Given the description of an element on the screen output the (x, y) to click on. 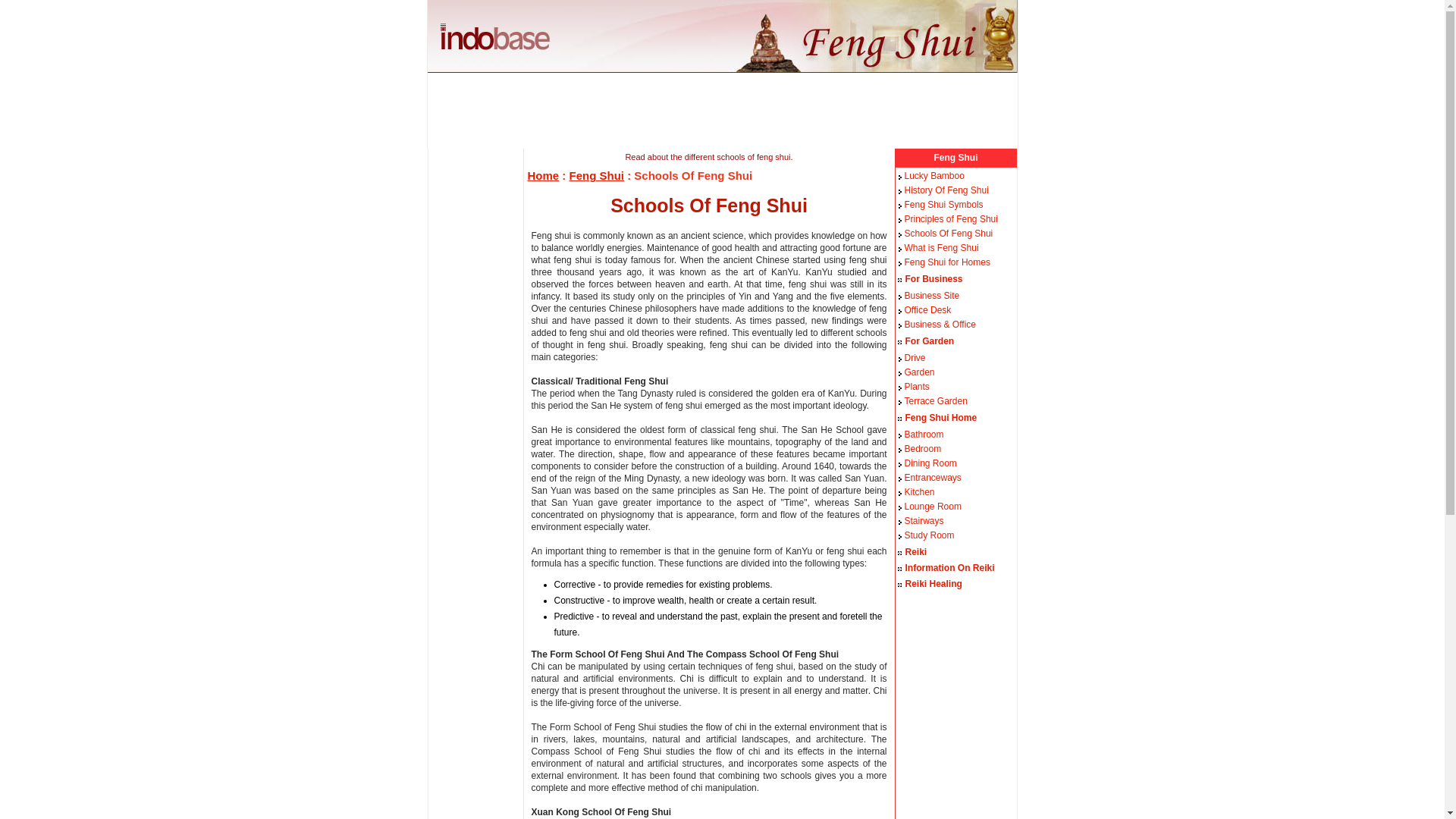
Feng Shui for Homes (947, 262)
For Garden (930, 340)
Terrace Garden (935, 400)
What is Feng Shui (941, 247)
Information On Reiki (949, 567)
Reiki (916, 552)
Study Room (928, 534)
Entranceways (932, 477)
Business Site (931, 295)
History Of Feng Shui (946, 190)
Schools Of Feng Shui (948, 233)
Drive (914, 357)
Feng Shui Home (940, 417)
Lucky Bamboo (933, 175)
For Business (933, 278)
